Given the description of an element on the screen output the (x, y) to click on. 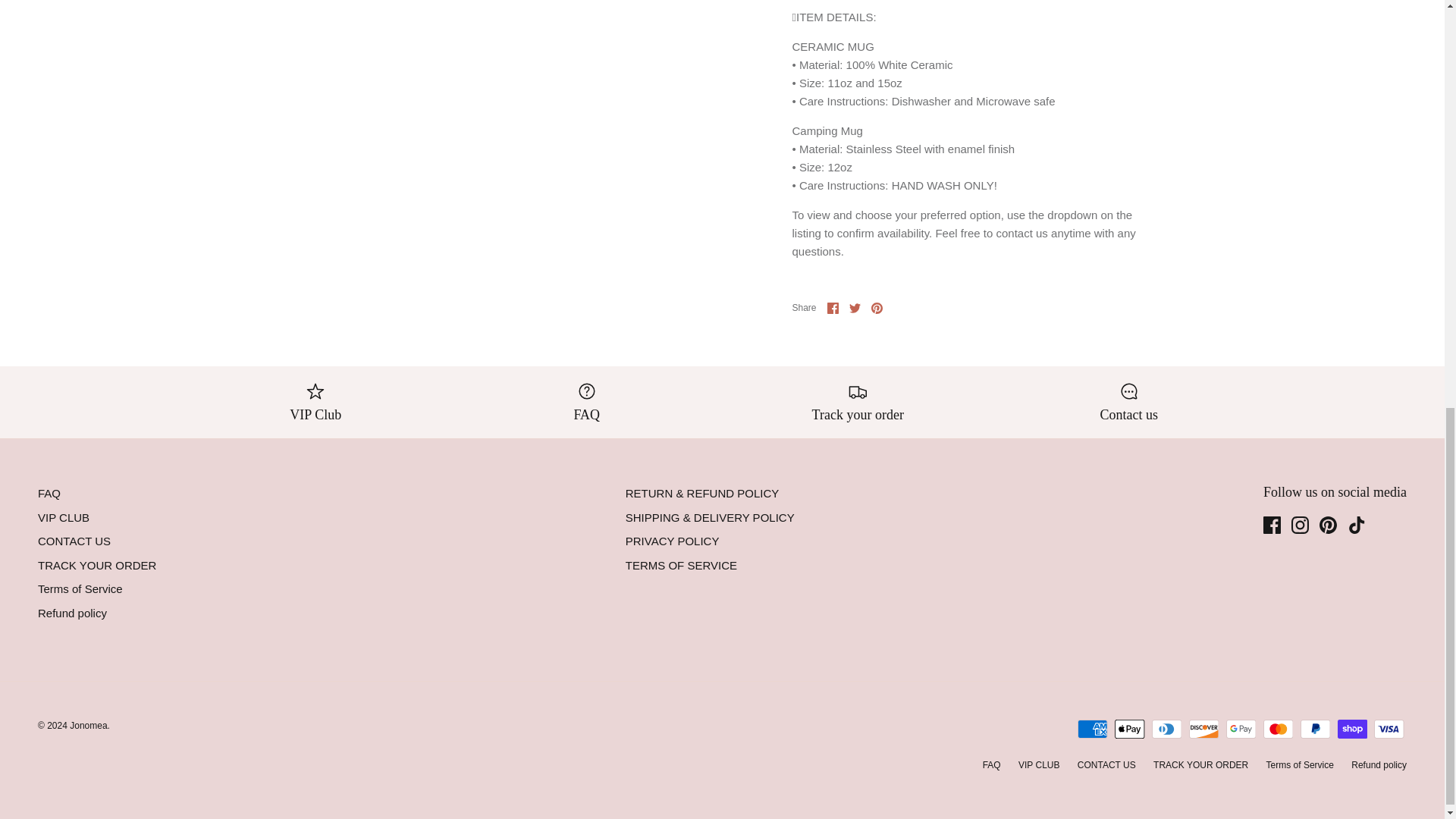
Facebook (832, 307)
Twitter (854, 307)
Facebook (1272, 524)
Instagram (1299, 524)
Pinterest (1327, 524)
Pinterest (876, 307)
